Given the description of an element on the screen output the (x, y) to click on. 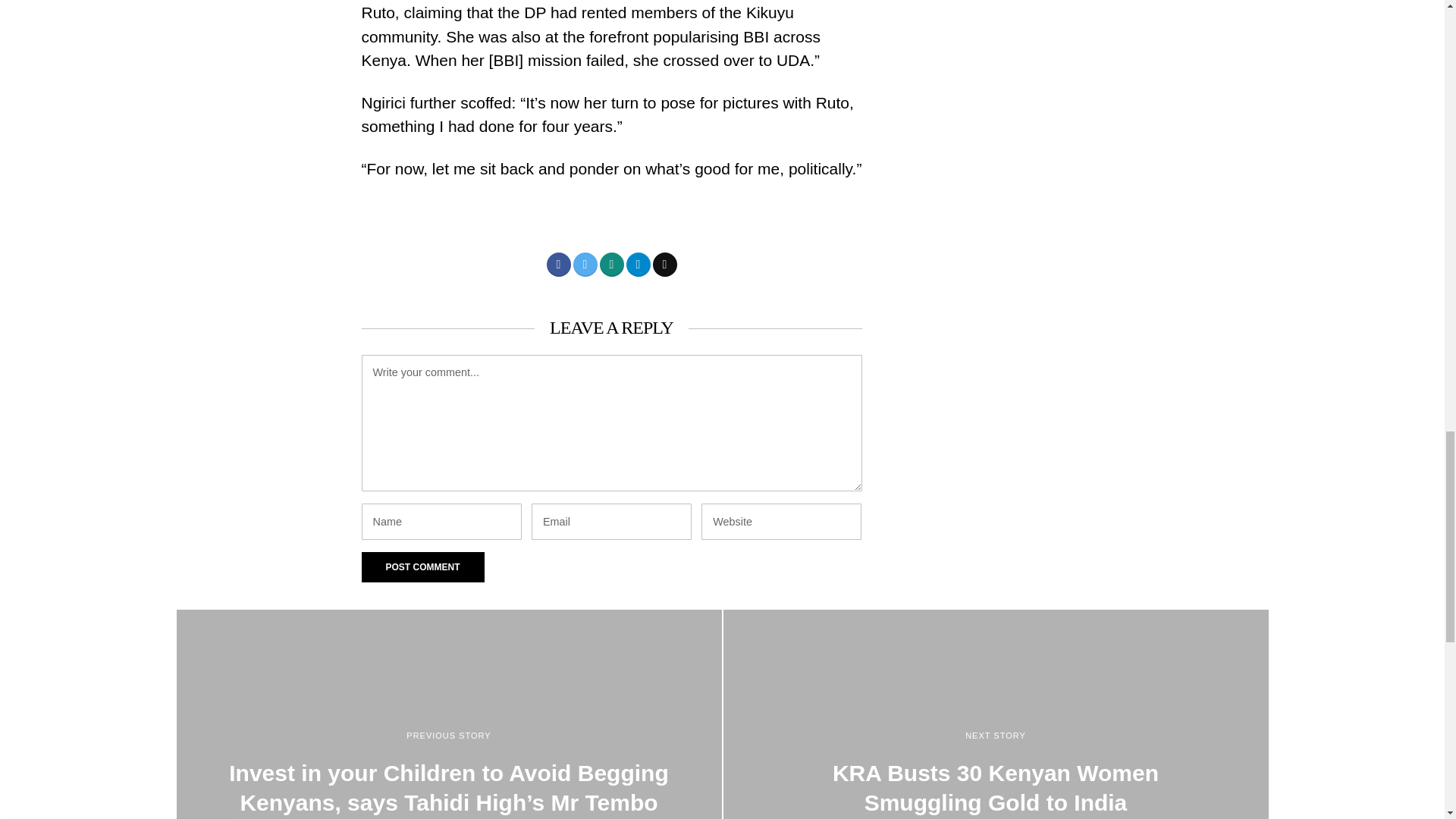
Post Comment (422, 567)
Post Comment (422, 567)
